Given the description of an element on the screen output the (x, y) to click on. 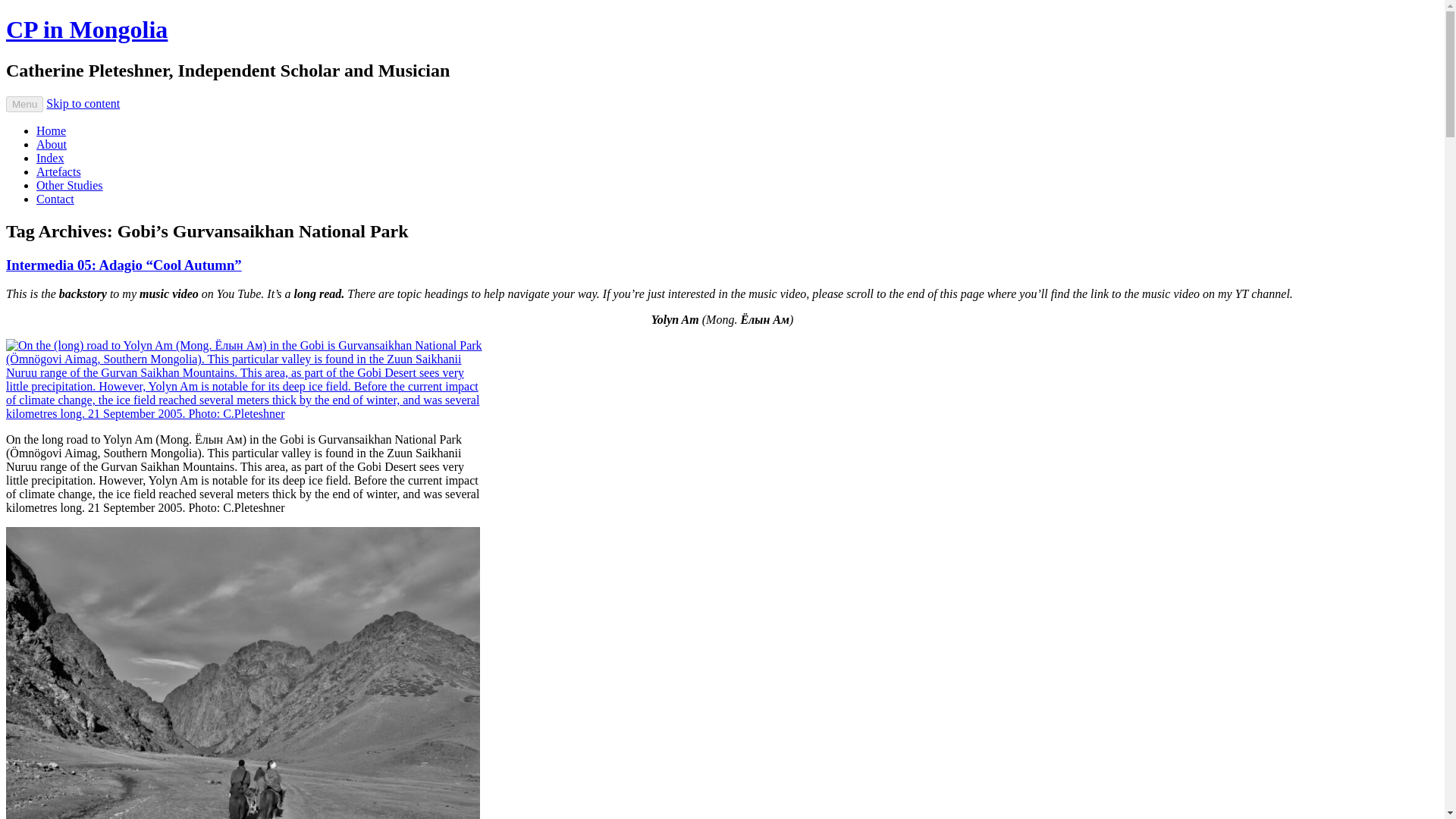
About (51, 144)
Other Studies (69, 185)
Artefacts (58, 171)
Menu (24, 104)
Skip to content (82, 103)
Index (50, 157)
CP in Mongolia (86, 29)
Home (50, 130)
Contact (55, 198)
